Given the description of an element on the screen output the (x, y) to click on. 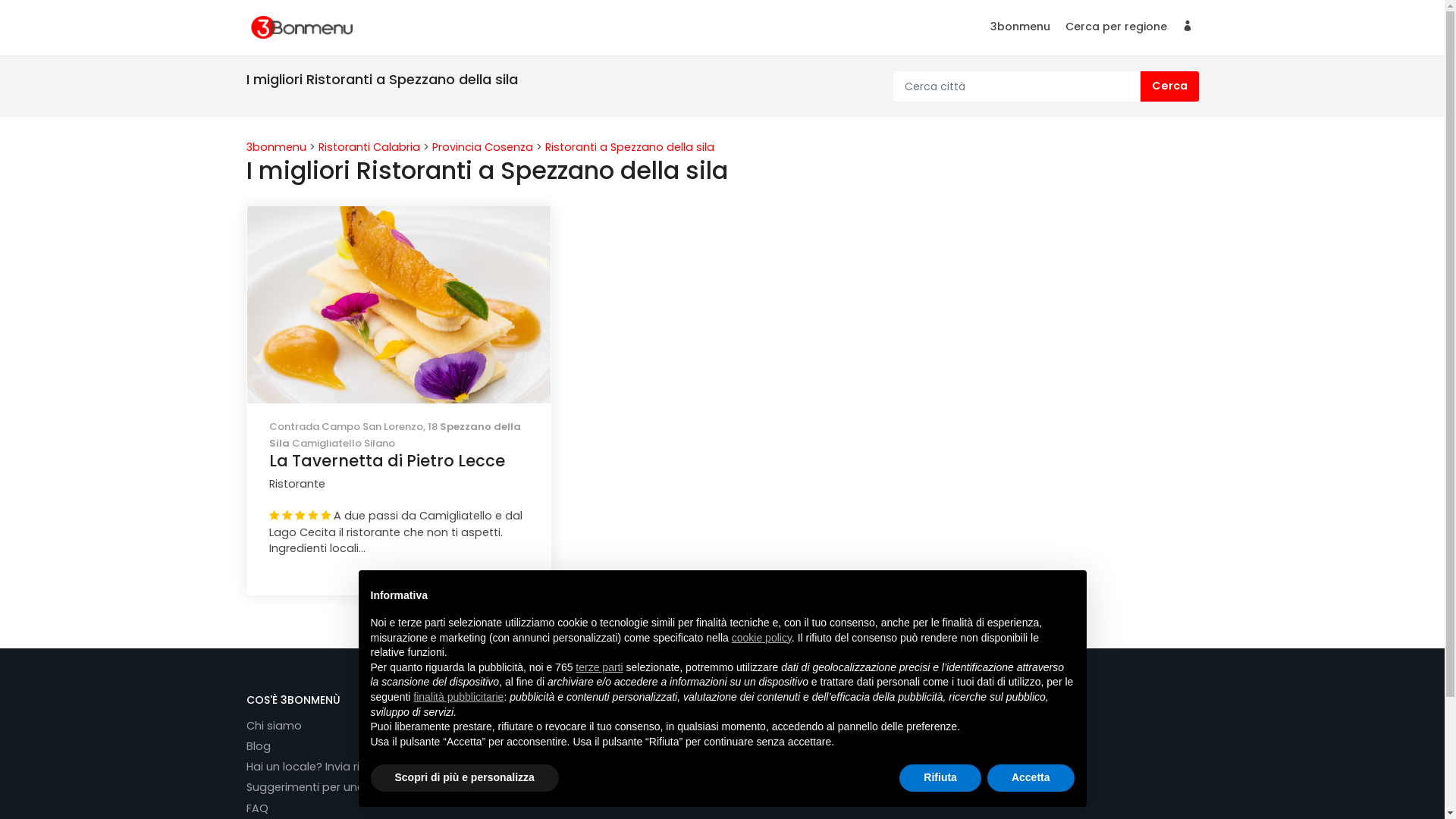
Cerca Element type: text (1169, 86)
cookie policy Element type: text (761, 637)
Chi siamo Element type: text (280, 725)
Ristoranti Calabria Element type: text (370, 146)
3bonmenu Element type: text (276, 146)
Suggerimenti per una buona inserzione Element type: text (360, 786)
FAQ Element type: text (263, 807)
Area riservata Element type: hover (1186, 30)
Ristoranti a Spezzano della sila Element type: text (628, 146)
info@3bonmenu.com Element type: text (655, 752)
terze parti Element type: text (598, 667)
3bonmenu Element type: text (1020, 30)
Cerca per regione Element type: text (1115, 30)
Accetta Element type: text (1030, 777)
Provincia Cosenza Element type: text (484, 146)
Blog Element type: text (264, 745)
Hai un locale? Invia richiesta d'iscrizione Element type: text (360, 766)
Rifiuta Element type: text (940, 777)
La Tavernetta di Pietro Lecce Element type: text (398, 479)
